Given the description of an element on the screen output the (x, y) to click on. 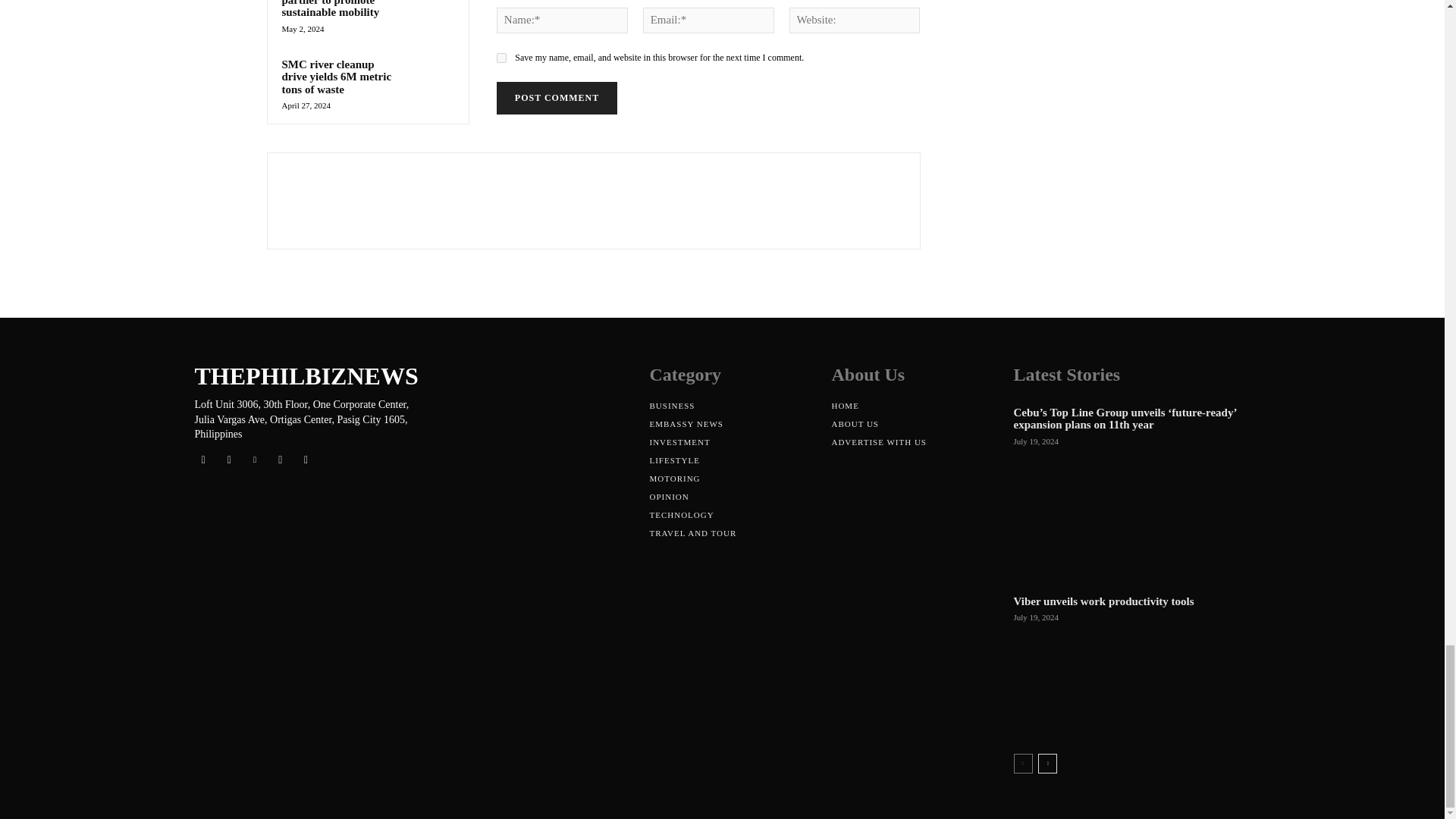
Post Comment (556, 97)
yes (501, 58)
